Given the description of an element on the screen output the (x, y) to click on. 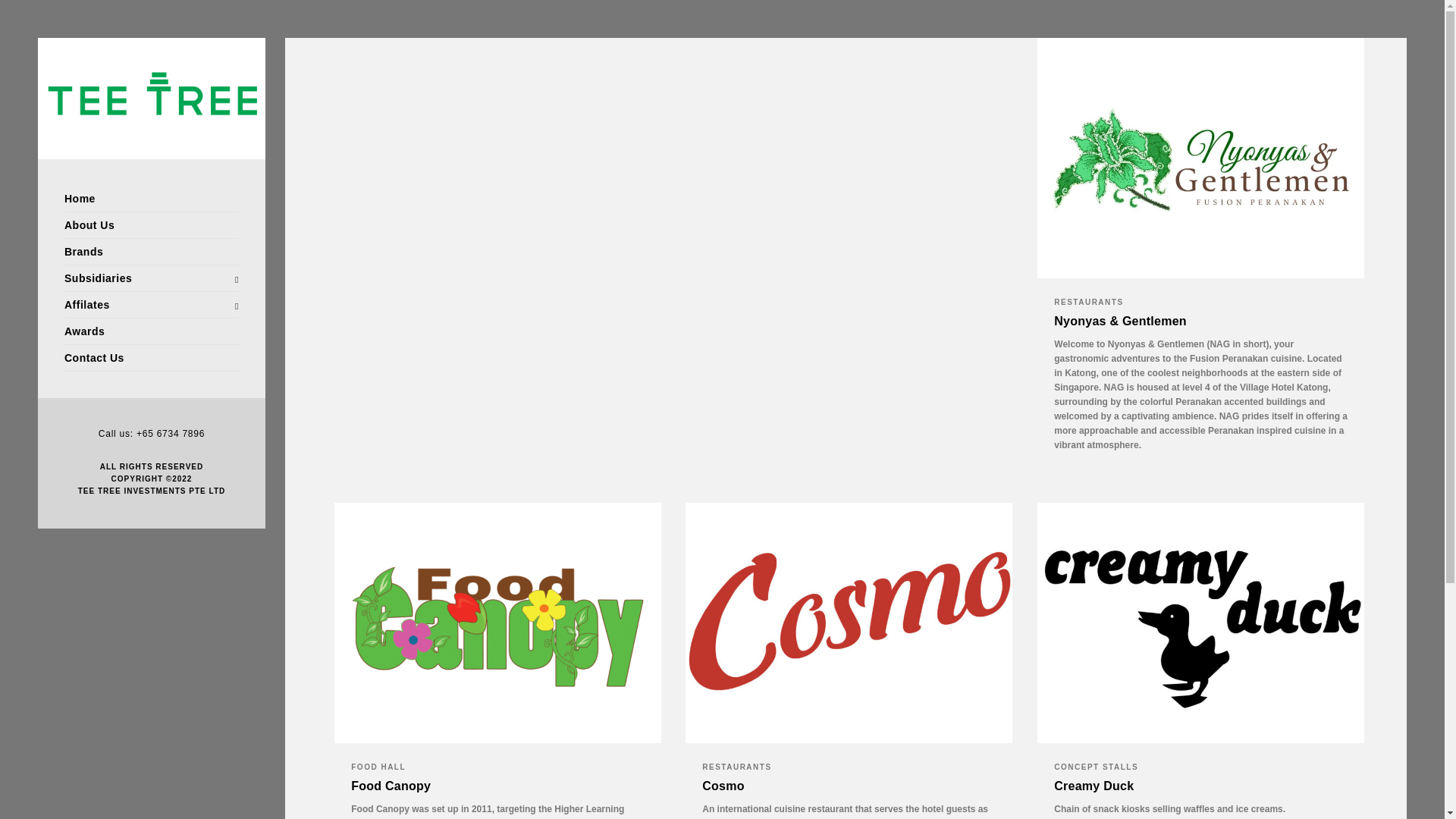
Affilates (151, 304)
Contact Us (151, 357)
Brands (151, 252)
Home (151, 198)
Subsidiaries (151, 278)
Awards (151, 331)
About Us (151, 225)
